Given the description of an element on the screen output the (x, y) to click on. 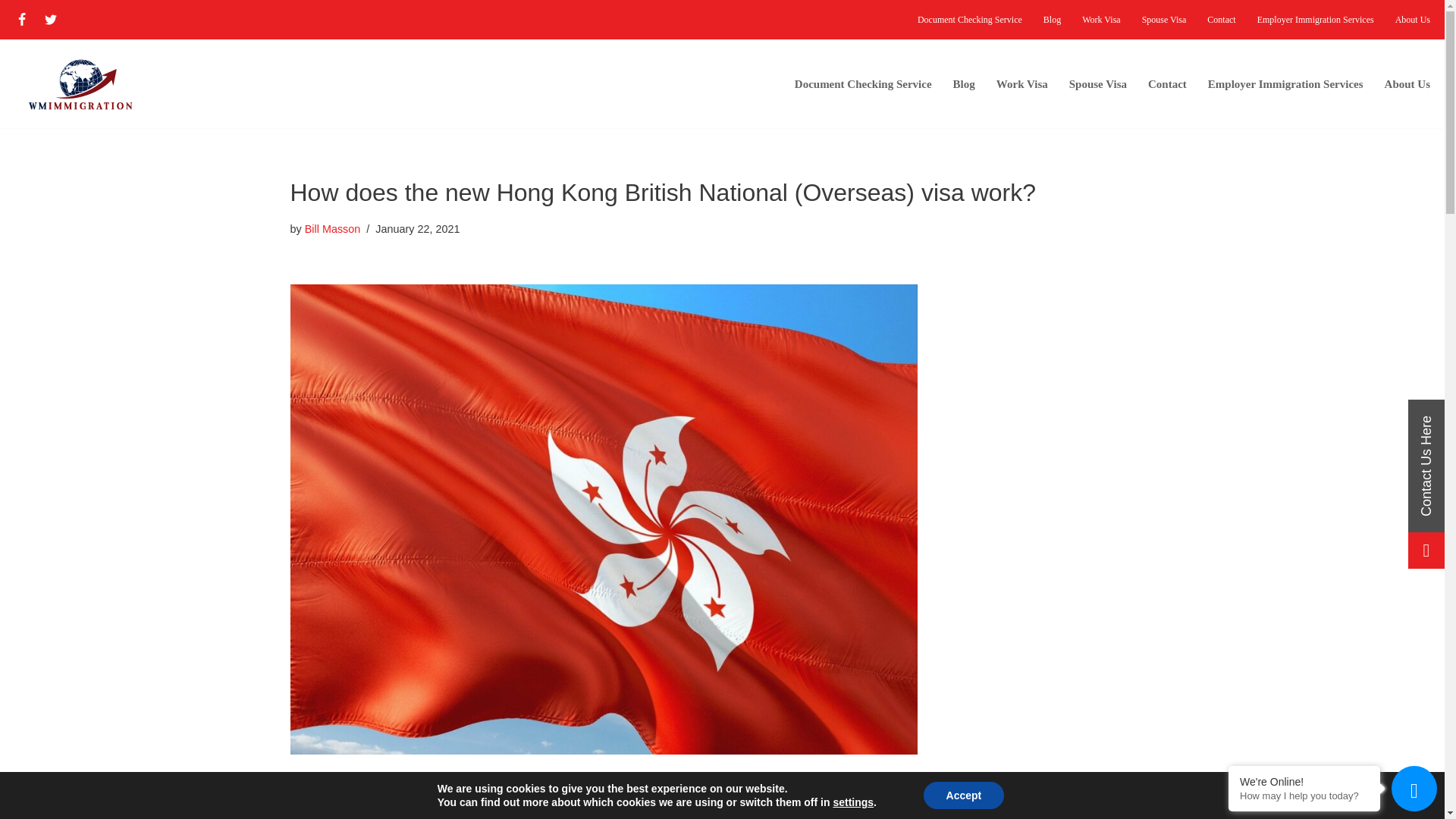
Immigration Blog (964, 83)
Facebook (21, 19)
Twitter (50, 19)
Spouse Visa (1163, 19)
Immigration Blog (1052, 19)
ILR Advice (1167, 83)
ILR Advice (1220, 19)
Employer Immigration Services (1315, 19)
Blog (1052, 19)
Document Checking Service (862, 83)
Document Checking Service (969, 19)
Contact (1220, 19)
Work Visa (1021, 83)
Work Visa (1100, 19)
Contact (1167, 83)
